Given the description of an element on the screen output the (x, y) to click on. 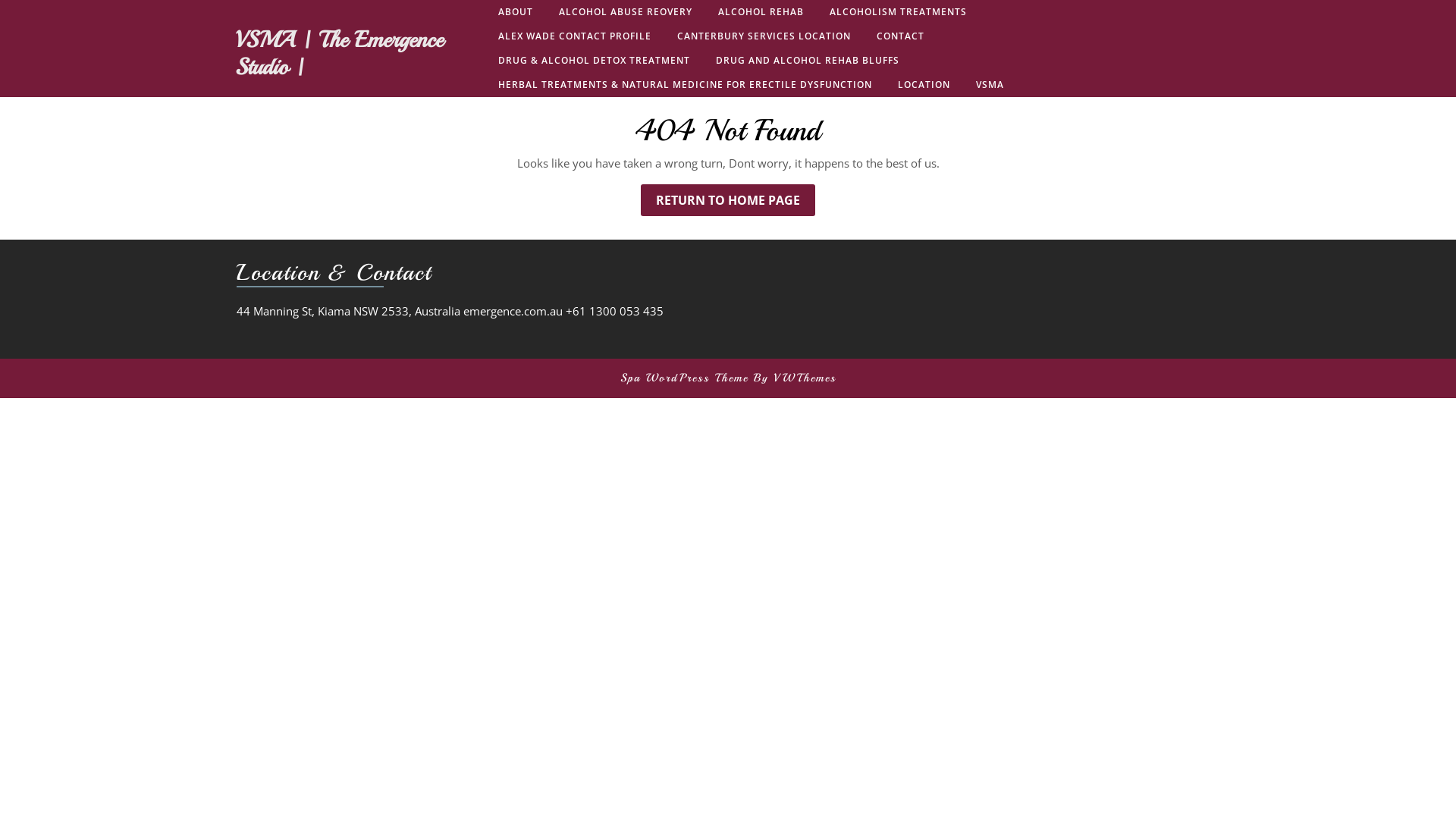
ALEX WADE CONTACT PROFILE Element type: text (574, 36)
CANTERBURY SERVICES LOCATION Element type: text (763, 36)
RETURN TO HOME PAGE
RETURN TO HOME PAGE Element type: text (727, 200)
VSMA | The Emergence Studio | Element type: text (339, 52)
CONTACT Element type: text (900, 36)
DRUG & ALCOHOL DETOX TREATMENT Element type: text (593, 60)
Spa WordPress Theme Element type: text (684, 377)
VSMA Element type: text (989, 84)
ALCOHOLISM TREATMENTS Element type: text (898, 12)
LOCATION Element type: text (923, 84)
DRUG AND ALCOHOL REHAB BLUFFS Element type: text (807, 60)
ABOUT Element type: text (515, 12)
ALCOHOL ABUSE REOVERY Element type: text (625, 12)
ALCOHOL REHAB Element type: text (760, 12)
